Given the description of an element on the screen output the (x, y) to click on. 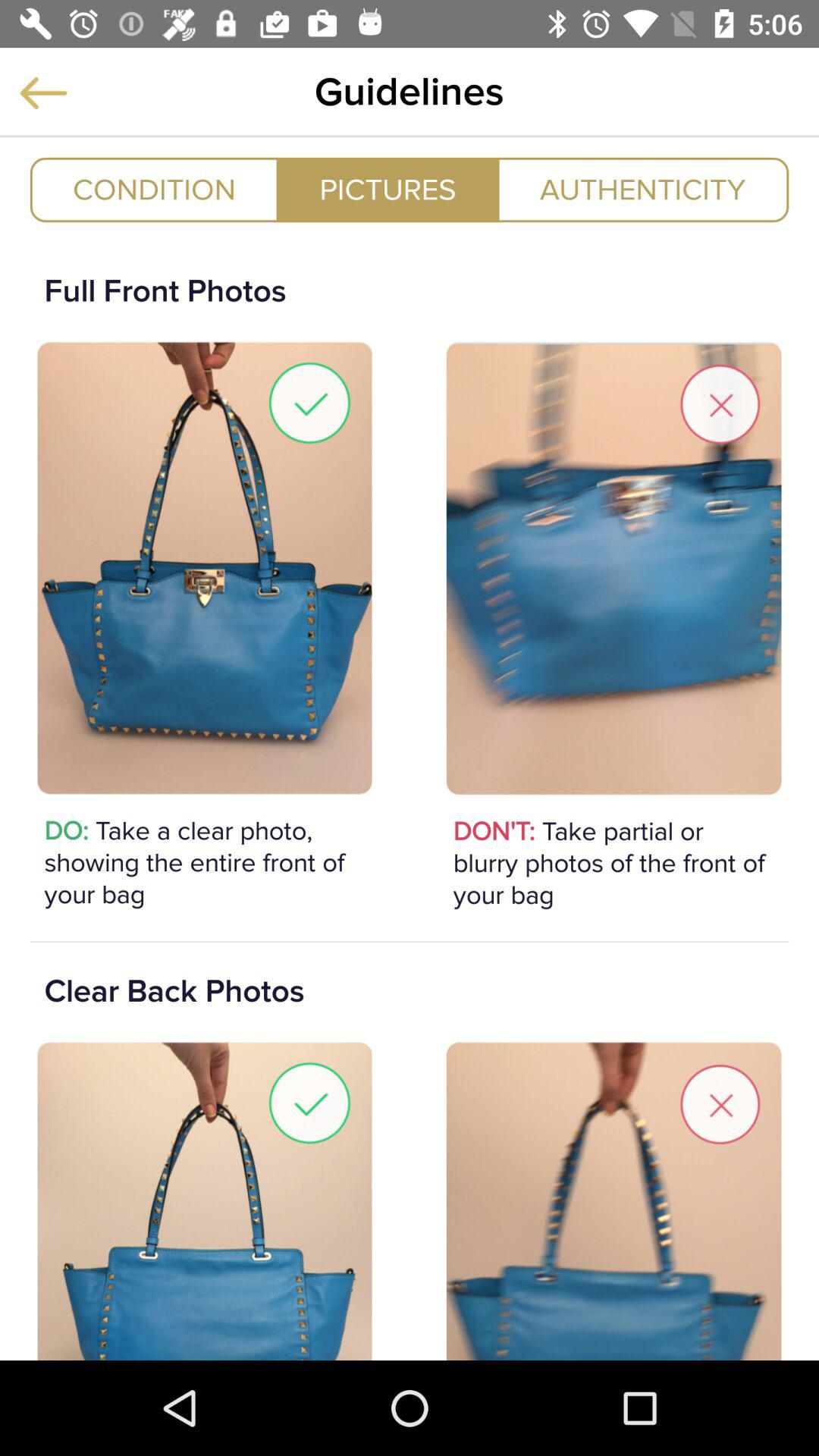
press item next to guidelines (43, 92)
